Given the description of an element on the screen output the (x, y) to click on. 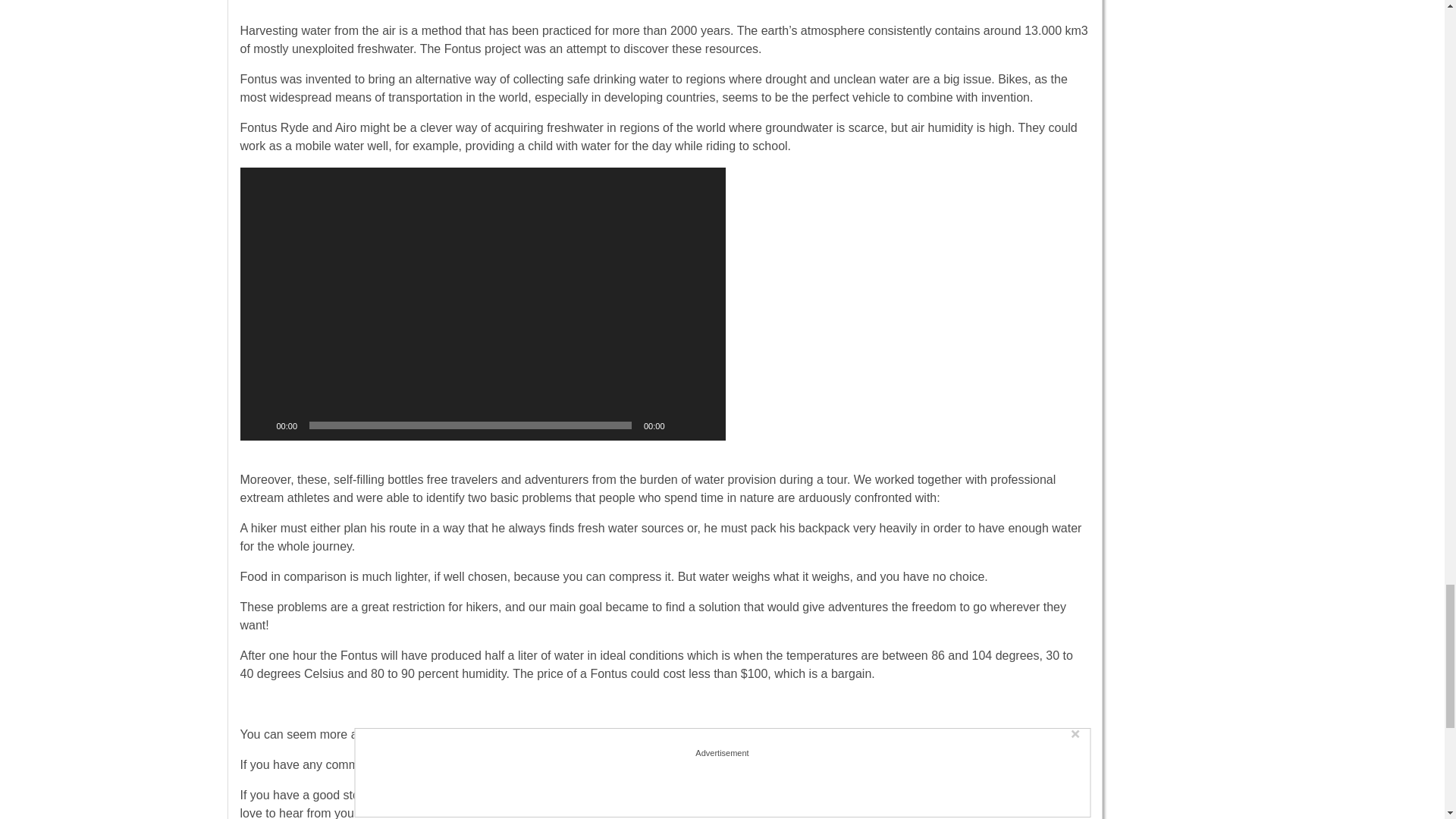
Mute (680, 425)
Play (258, 425)
Outdoor Revival Facebook page (681, 764)
Fullscreen (705, 425)
FONTUS (540, 734)
